Given the description of an element on the screen output the (x, y) to click on. 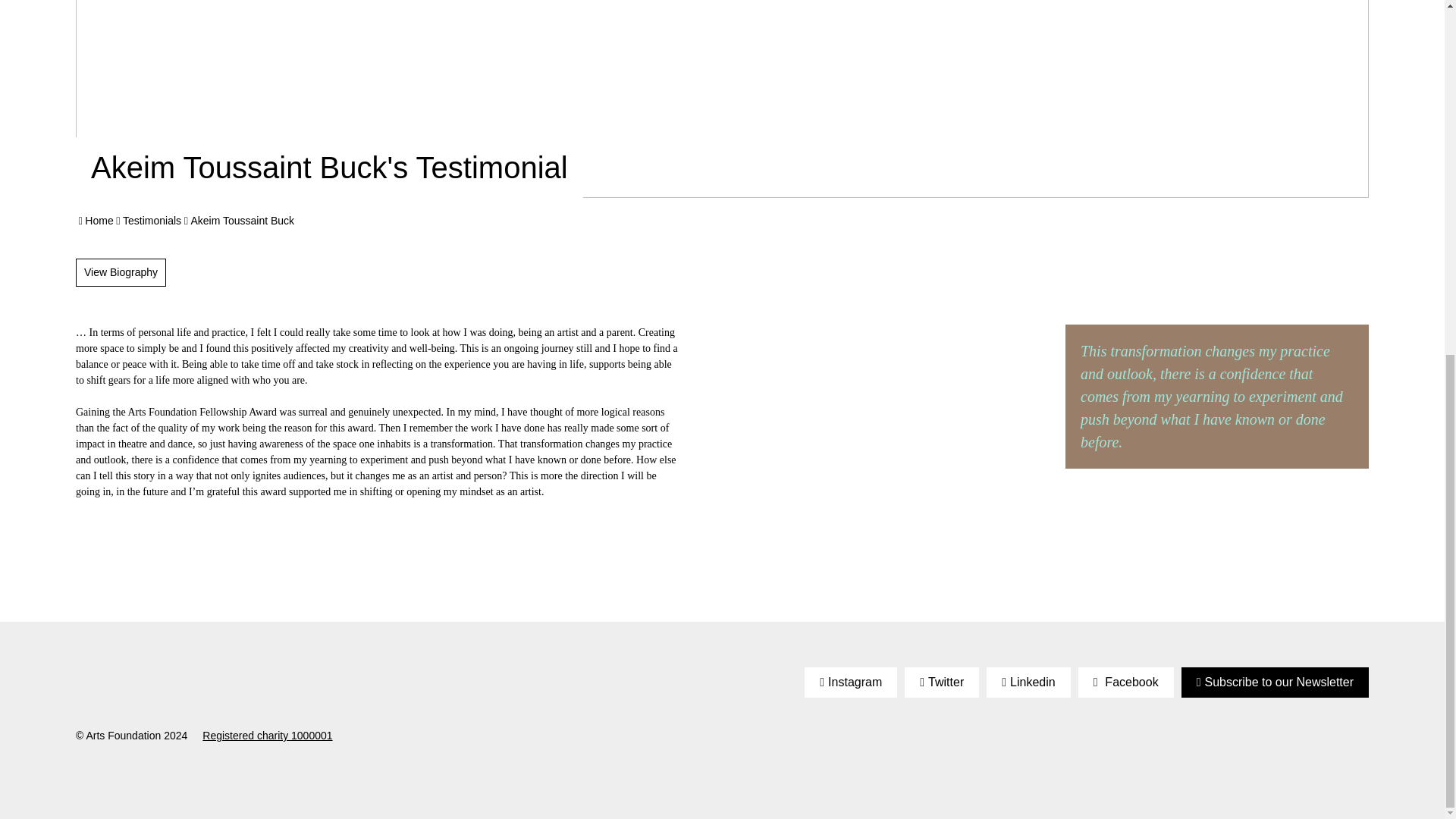
Testimonials (151, 220)
Facebook (1125, 682)
Registered charity 1000001 (266, 735)
Instagram (850, 682)
Twitter (941, 682)
Subscribe to our Newsletter (1274, 682)
Home (98, 220)
Linkedin (1028, 682)
View Biography (120, 272)
